Given the description of an element on the screen output the (x, y) to click on. 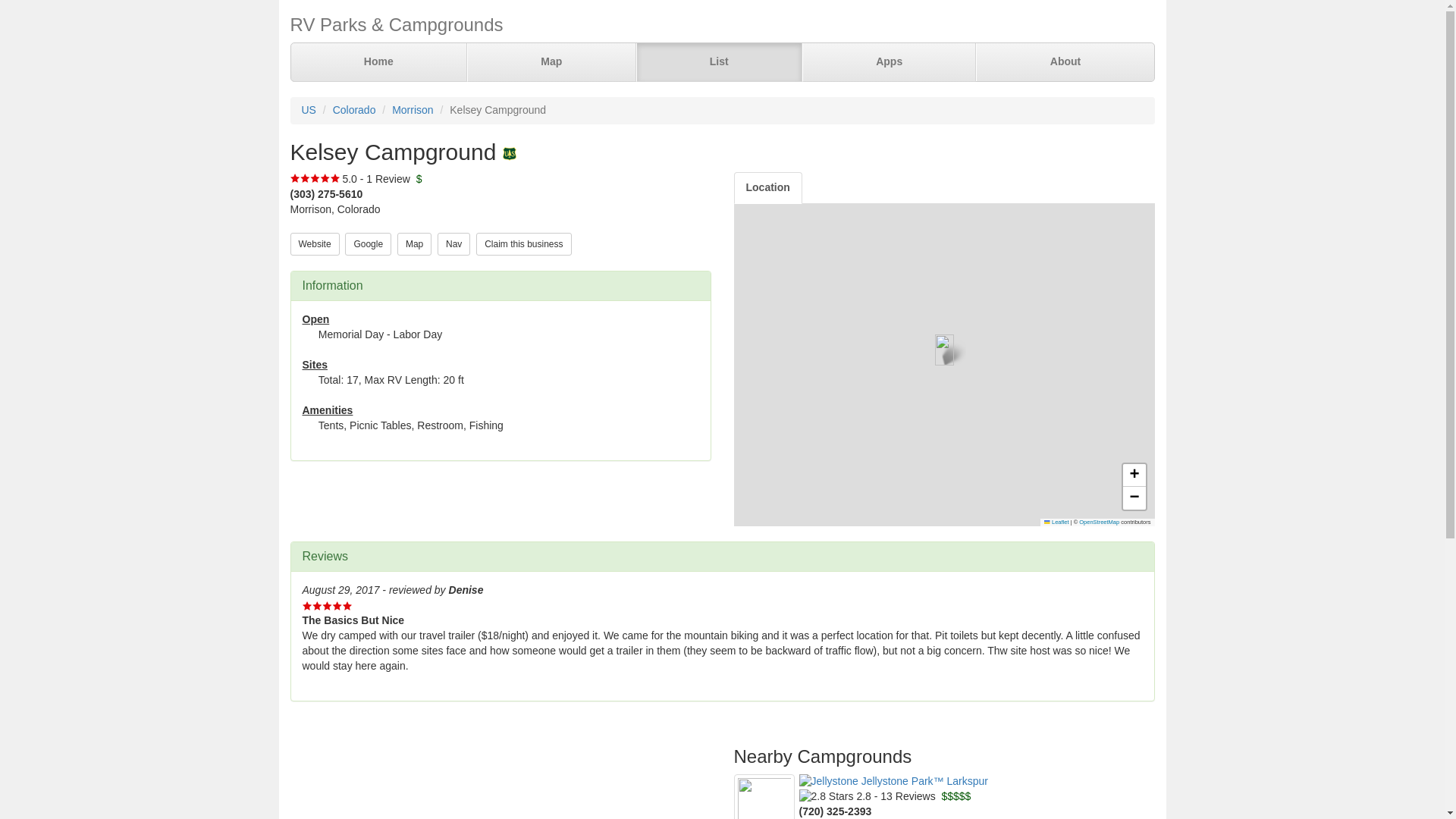
Home (379, 62)
Claim this business (523, 243)
Nav (454, 243)
Zoom in (1133, 475)
Claim this business (523, 243)
Nav (454, 243)
Location (767, 187)
OpenStreetMap (1098, 521)
Colorado (354, 110)
Morrison (411, 110)
Map (551, 62)
Website (314, 243)
Map (413, 243)
Map (413, 243)
Apps (889, 62)
